Given the description of an element on the screen output the (x, y) to click on. 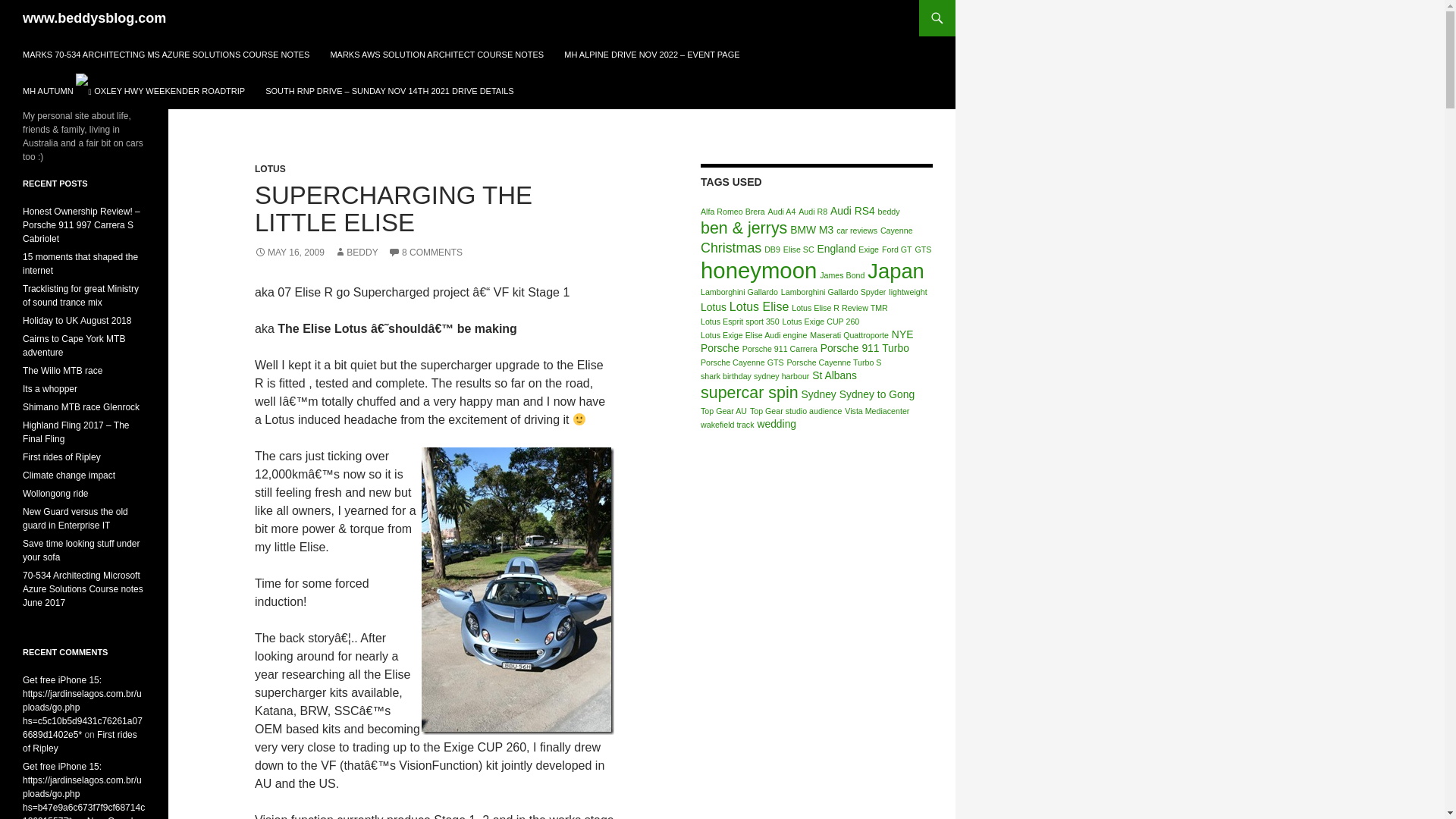
MH AUTUMN OXLEY HWY WEEKENDER ROADTRIP (133, 90)
MARKS AWS SOLUTION ARCHITECT COURSE NOTES (436, 54)
www.beddysblog.com (94, 18)
BEDDY (355, 252)
LOTUS (269, 168)
MAY 16, 2009 (289, 252)
8 COMMENTS (425, 252)
MARKS 70-534 ARCHITECTING MS AZURE SOLUTIONS COURSE NOTES (165, 54)
